Given the description of an element on the screen output the (x, y) to click on. 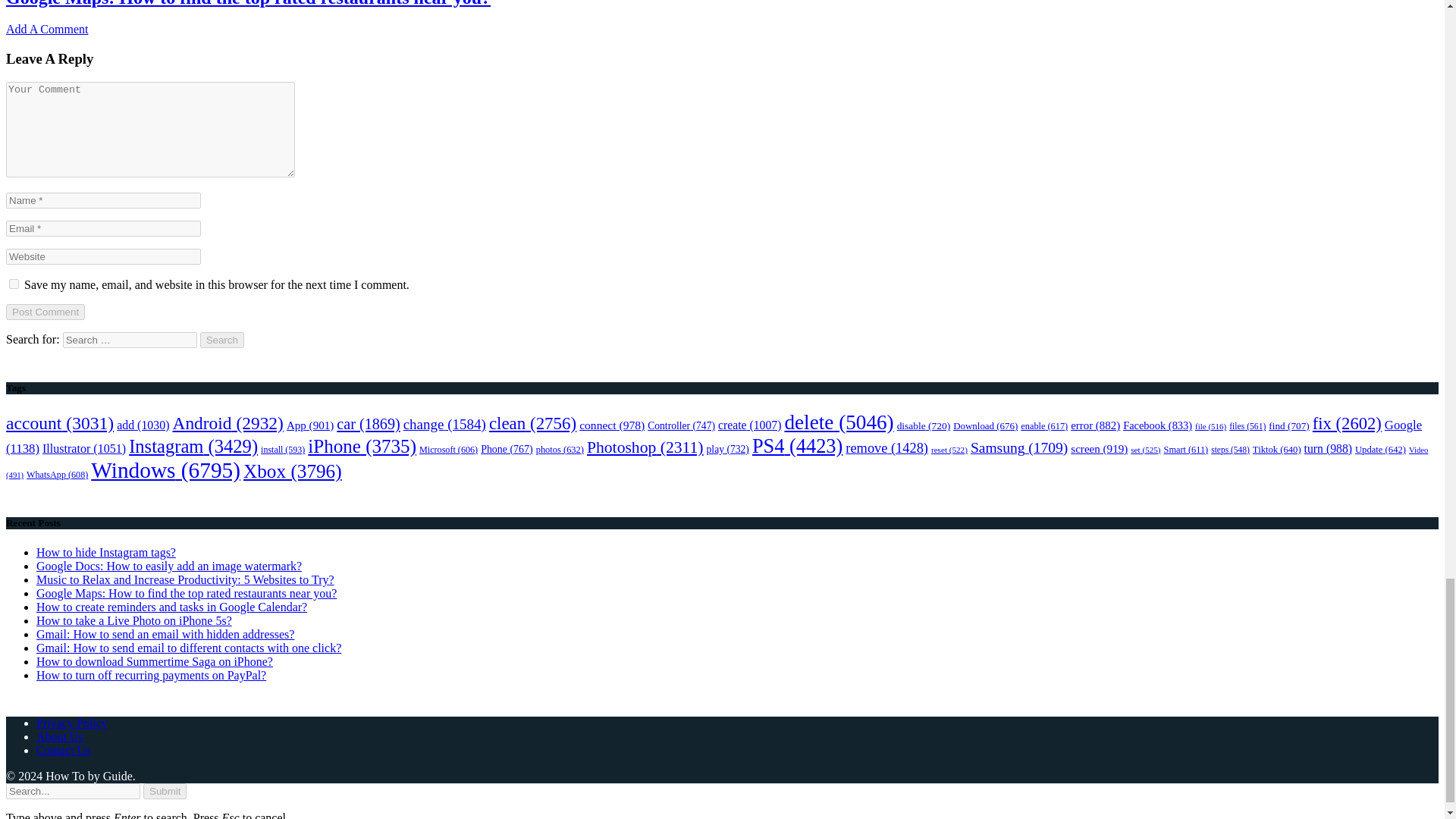
yes (13, 284)
Search (222, 340)
Post Comment (44, 311)
Search (222, 340)
